Given the description of an element on the screen output the (x, y) to click on. 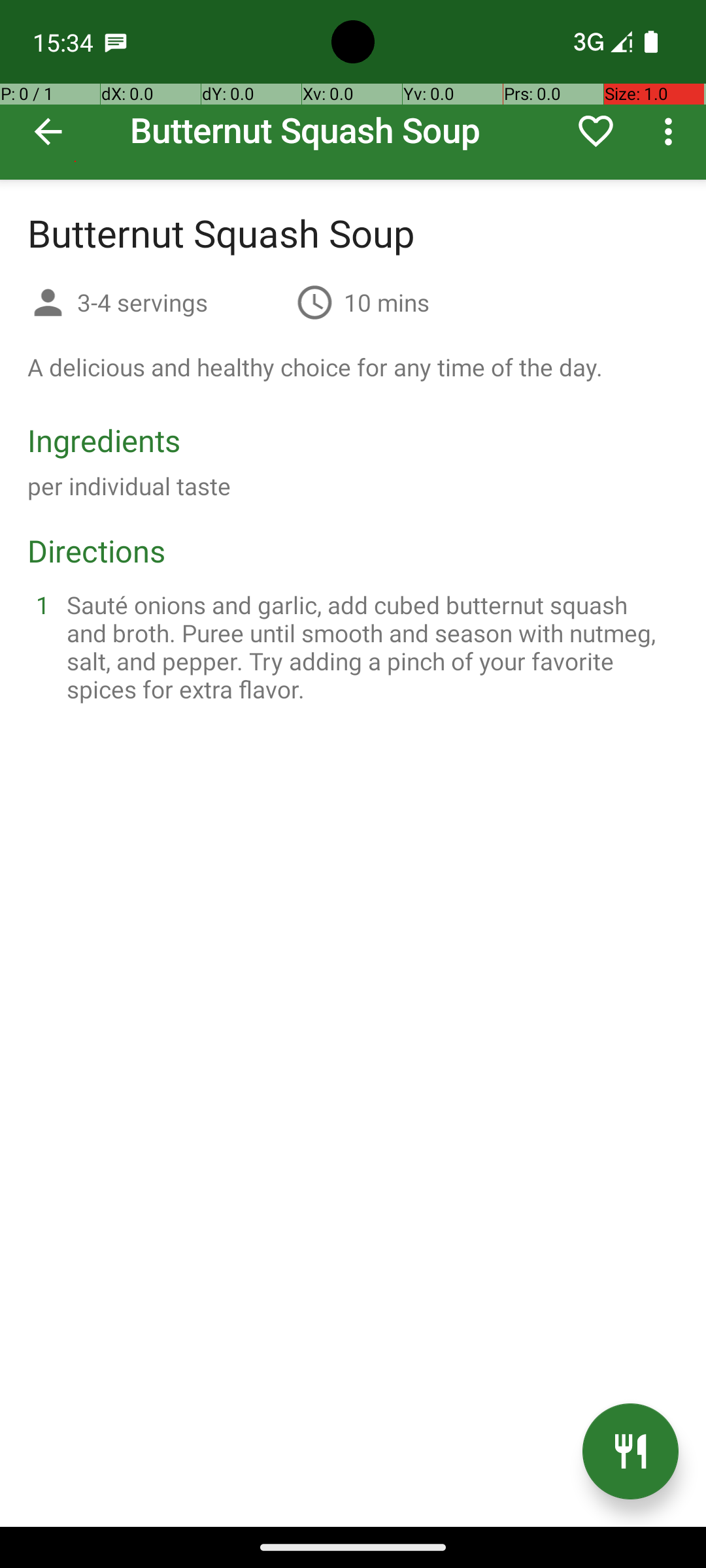
per individual taste Element type: android.widget.TextView (128, 485)
Sauté onions and garlic, add cubed butternut squash and broth. Puree until smooth and season with nutmeg, salt, and pepper. Try adding a pinch of your favorite spices for extra flavor. Element type: android.widget.TextView (368, 646)
